Given the description of an element on the screen output the (x, y) to click on. 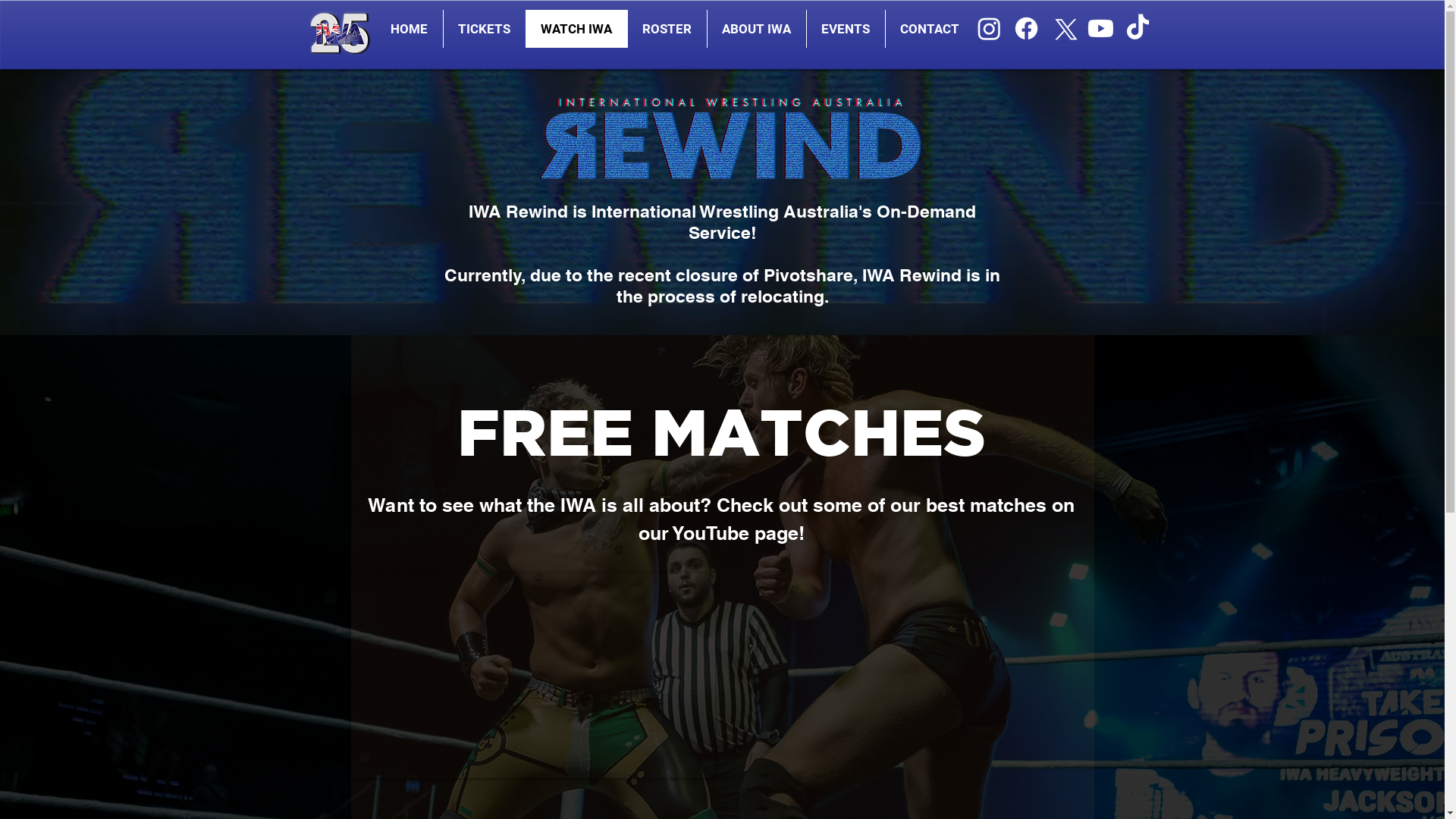
HOME Element type: text (408, 28)
CONTACT Element type: text (928, 28)
ABOUT IWA Element type: text (756, 28)
IWA 25 LOGO only.png Element type: hover (339, 34)
TICKETS Element type: text (483, 28)
WATCH IWA Element type: text (575, 28)
ROSTER Element type: text (666, 28)
EVENTS Element type: text (844, 28)
